Given the description of an element on the screen output the (x, y) to click on. 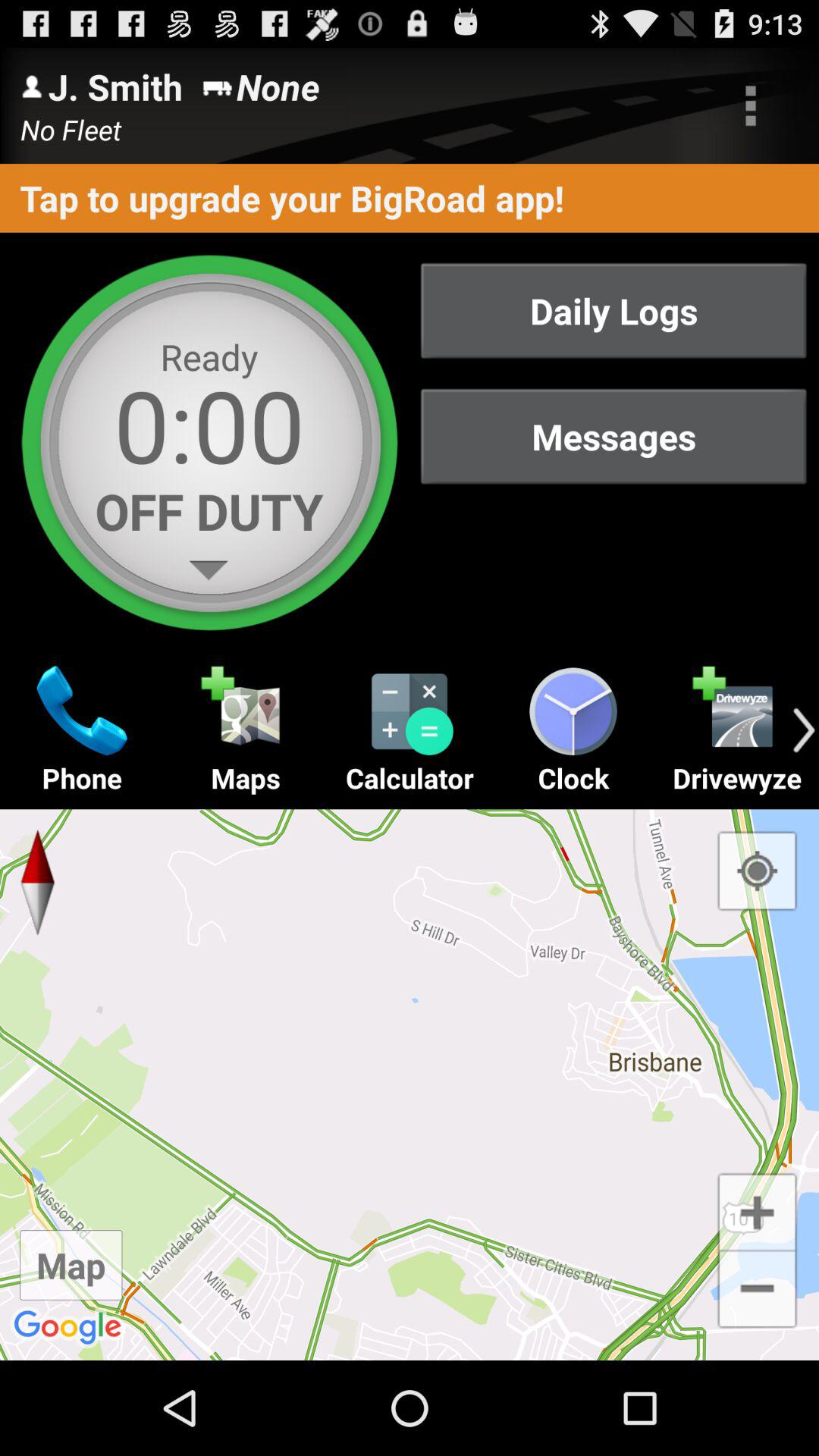
map zoom in (757, 1210)
